Given the description of an element on the screen output the (x, y) to click on. 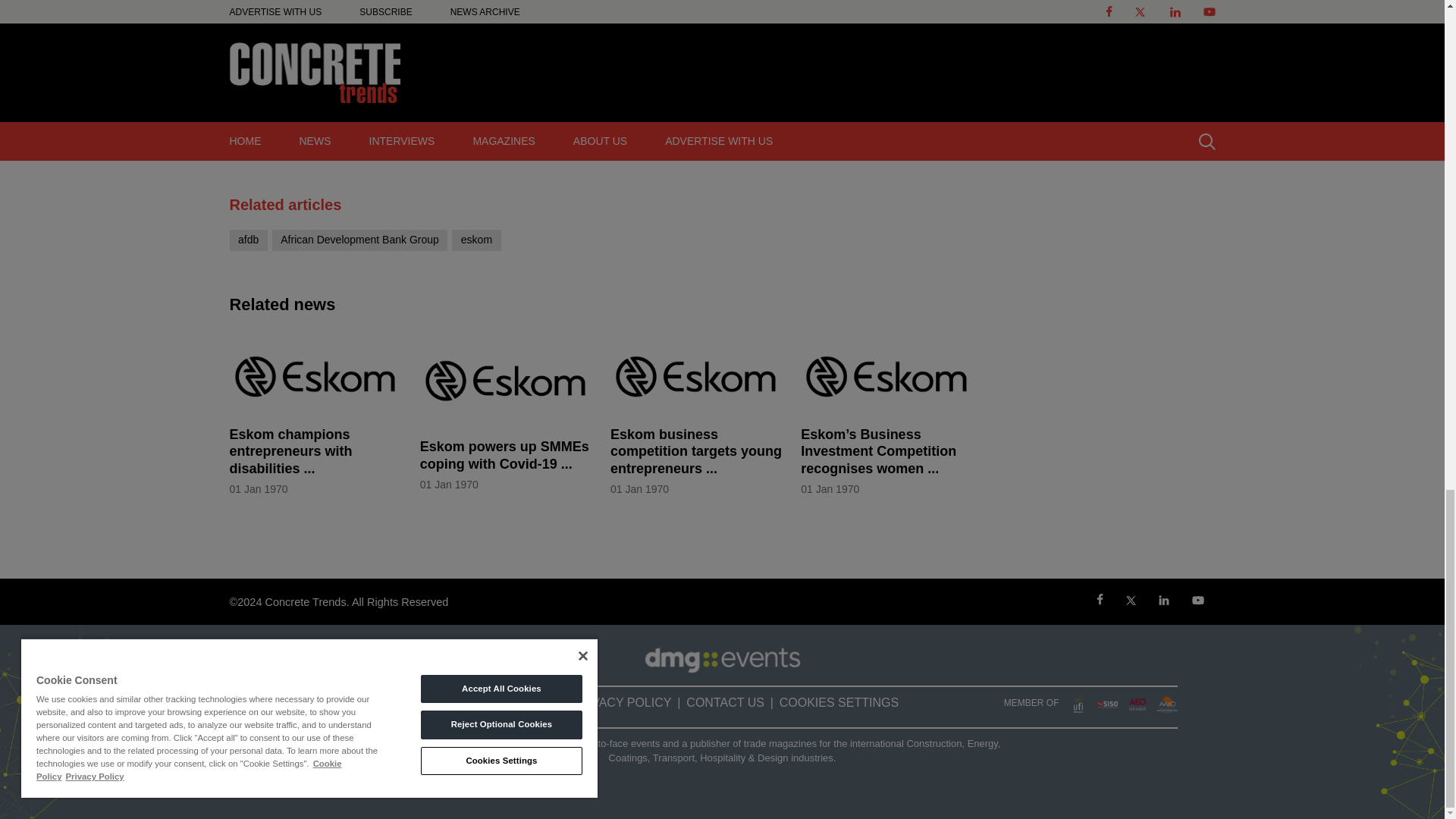
electricity backlogs (327, 4)
Bank (480, 4)
Africa (393, 19)
power (730, 4)
